Given the description of an element on the screen output the (x, y) to click on. 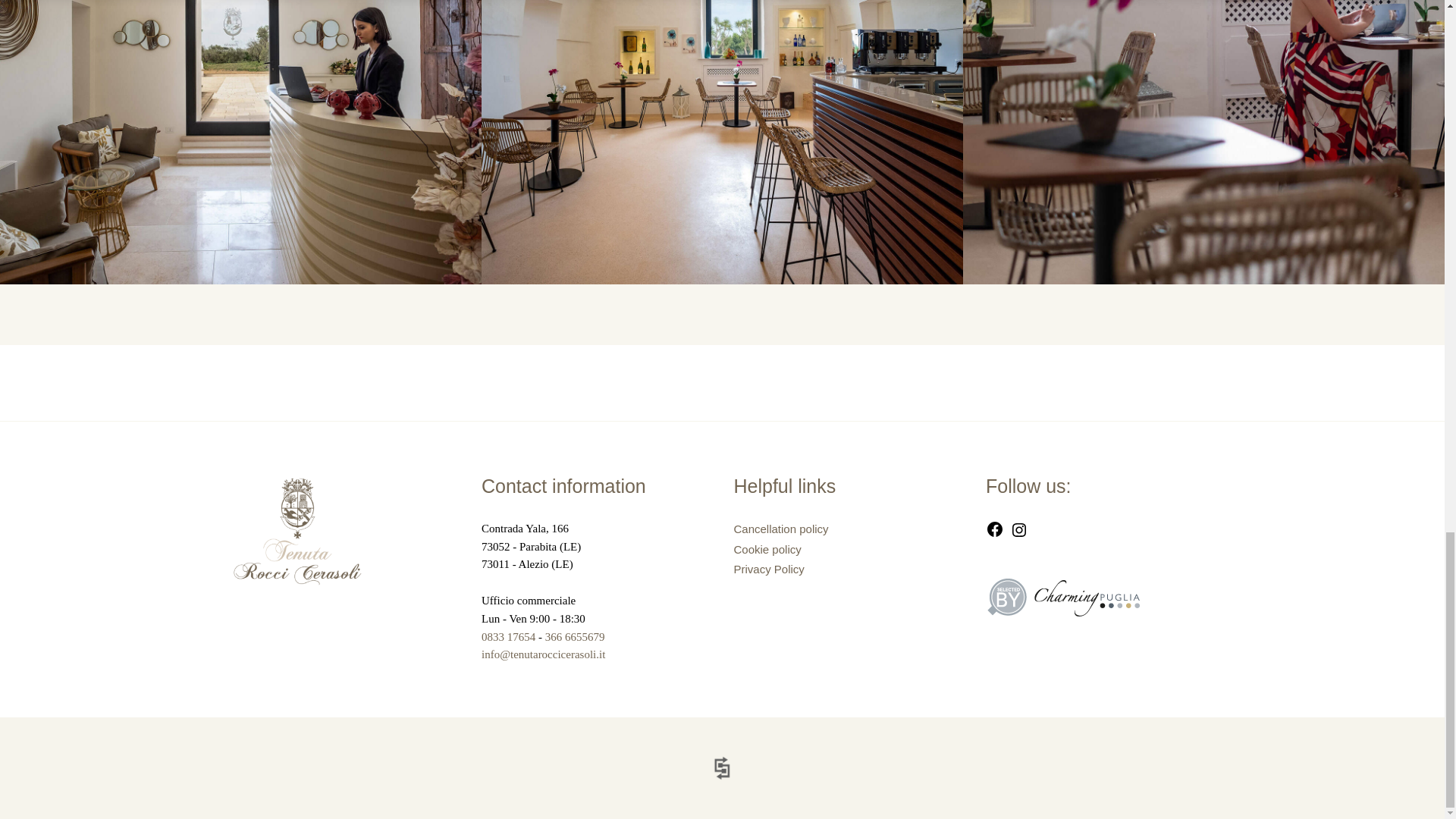
Cancellation policy (780, 528)
Privacy Policy (769, 568)
Cookie policy (767, 549)
366 6655679 (574, 636)
0833 17654 (508, 636)
